Given the description of an element on the screen output the (x, y) to click on. 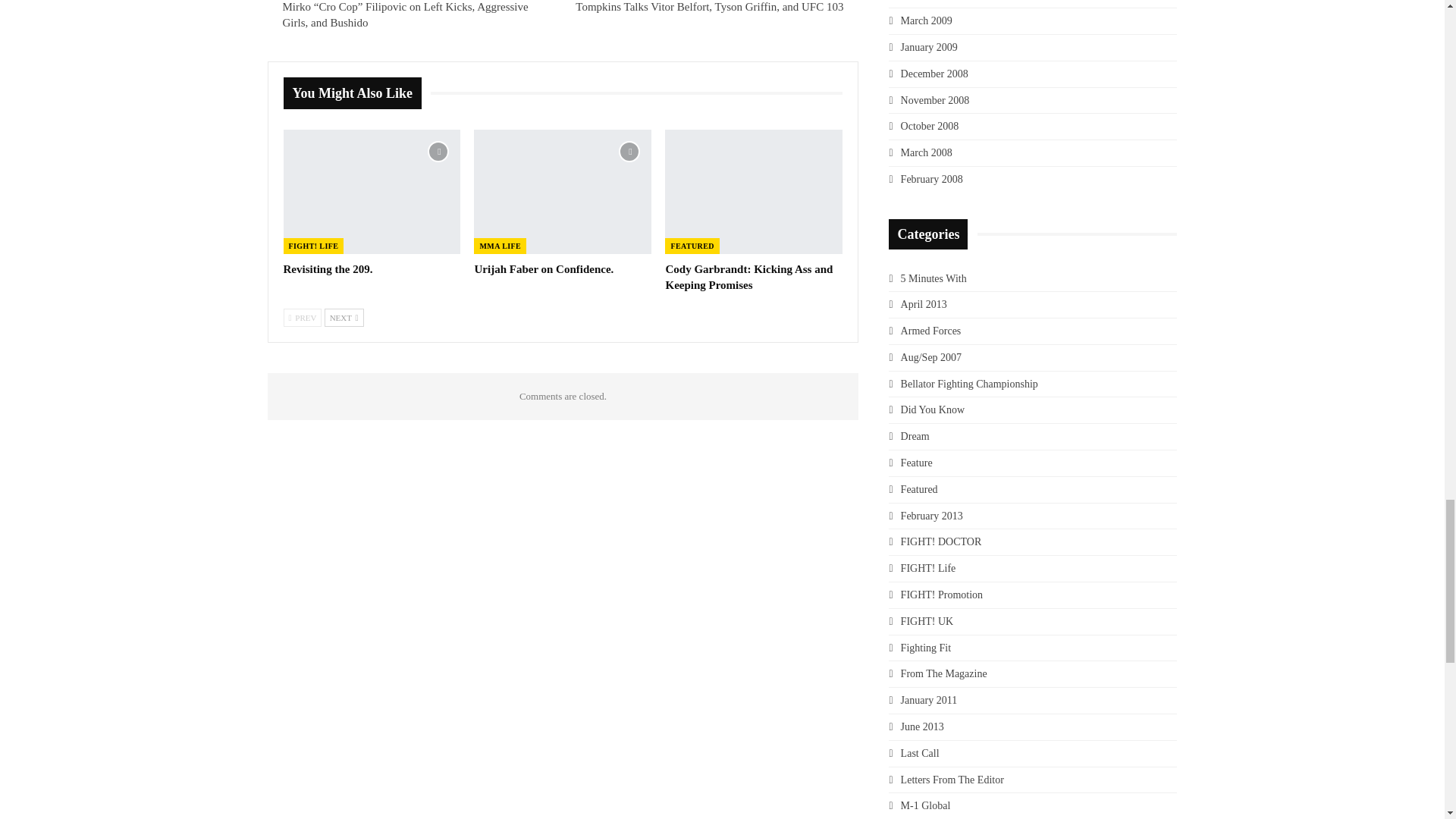
Next (344, 317)
Tompkins Talks Vitor Belfort, Tyson Griffin, and UFC 103 (709, 6)
Cody Garbrandt: Kicking Ass and Keeping Promises (754, 191)
Cody Garbrandt: Kicking Ass and Keeping Promises (748, 276)
Urijah Faber on Confidence. (543, 268)
Revisiting the 209. (327, 268)
Urijah Faber on Confidence. (562, 191)
Revisiting the 209. (372, 191)
Previous (302, 317)
You Might Also Like (356, 92)
